Given the description of an element on the screen output the (x, y) to click on. 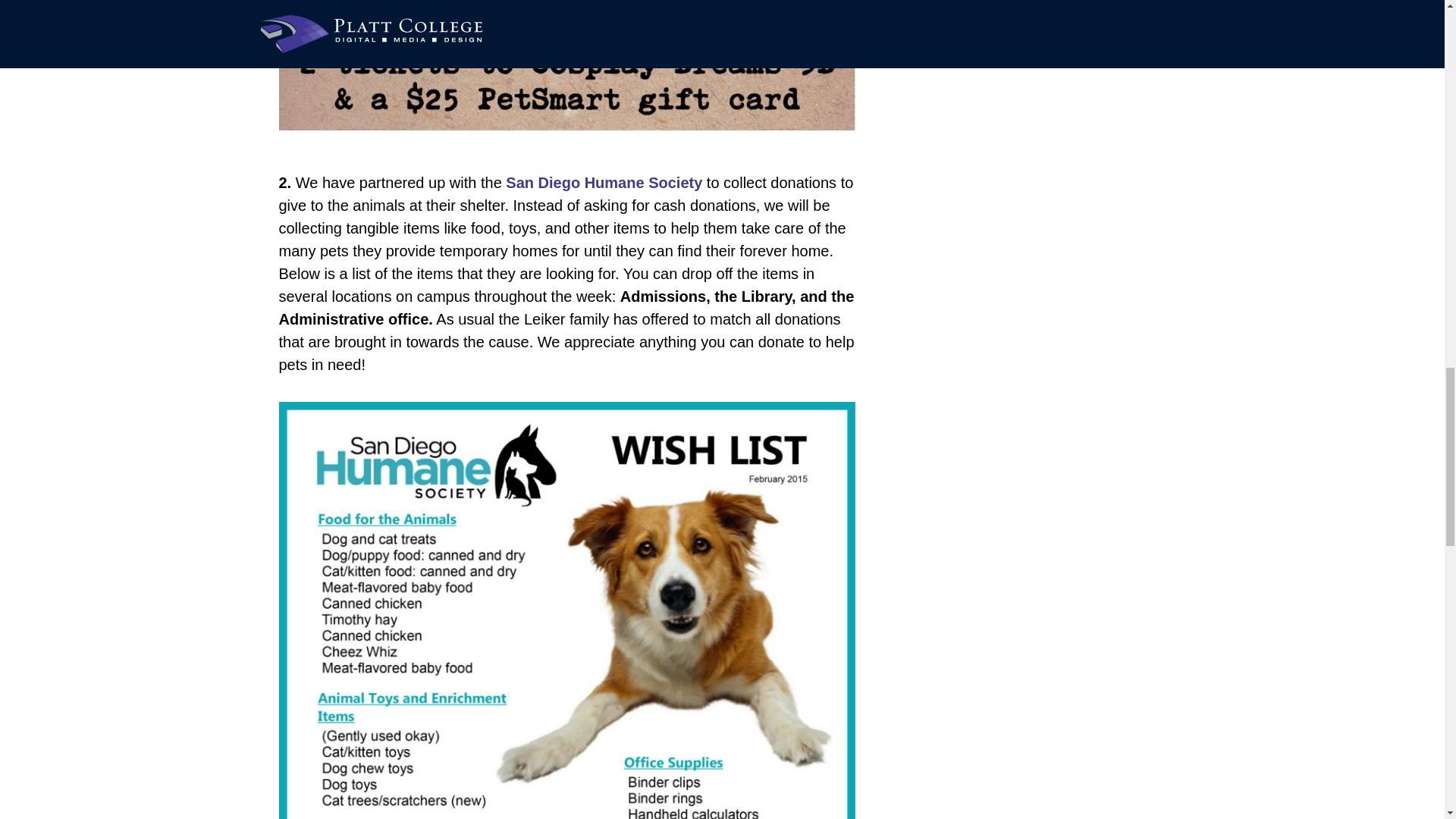
San Diego Humane Society (603, 182)
Platt Pet Week (567, 65)
San Diego Humane Society (603, 182)
